Given the description of an element on the screen output the (x, y) to click on. 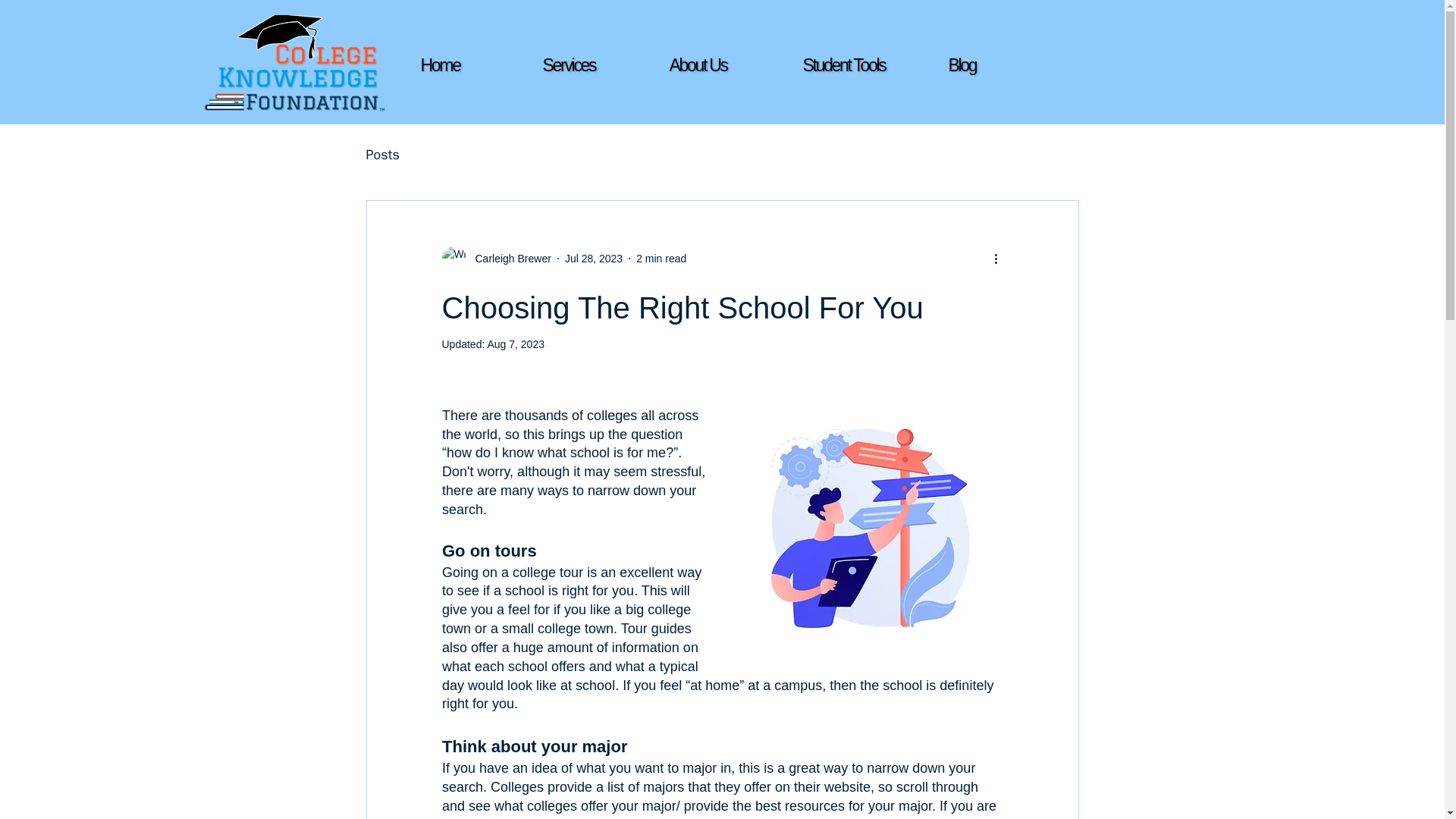
Services (595, 65)
Aug 7, 2023 (515, 344)
About Us (721, 65)
2 min read (660, 257)
Carleigh Brewer (507, 258)
Home (472, 65)
Blog (999, 65)
Jul 28, 2023 (593, 257)
Student Tools (854, 65)
